Given the description of an element on the screen output the (x, y) to click on. 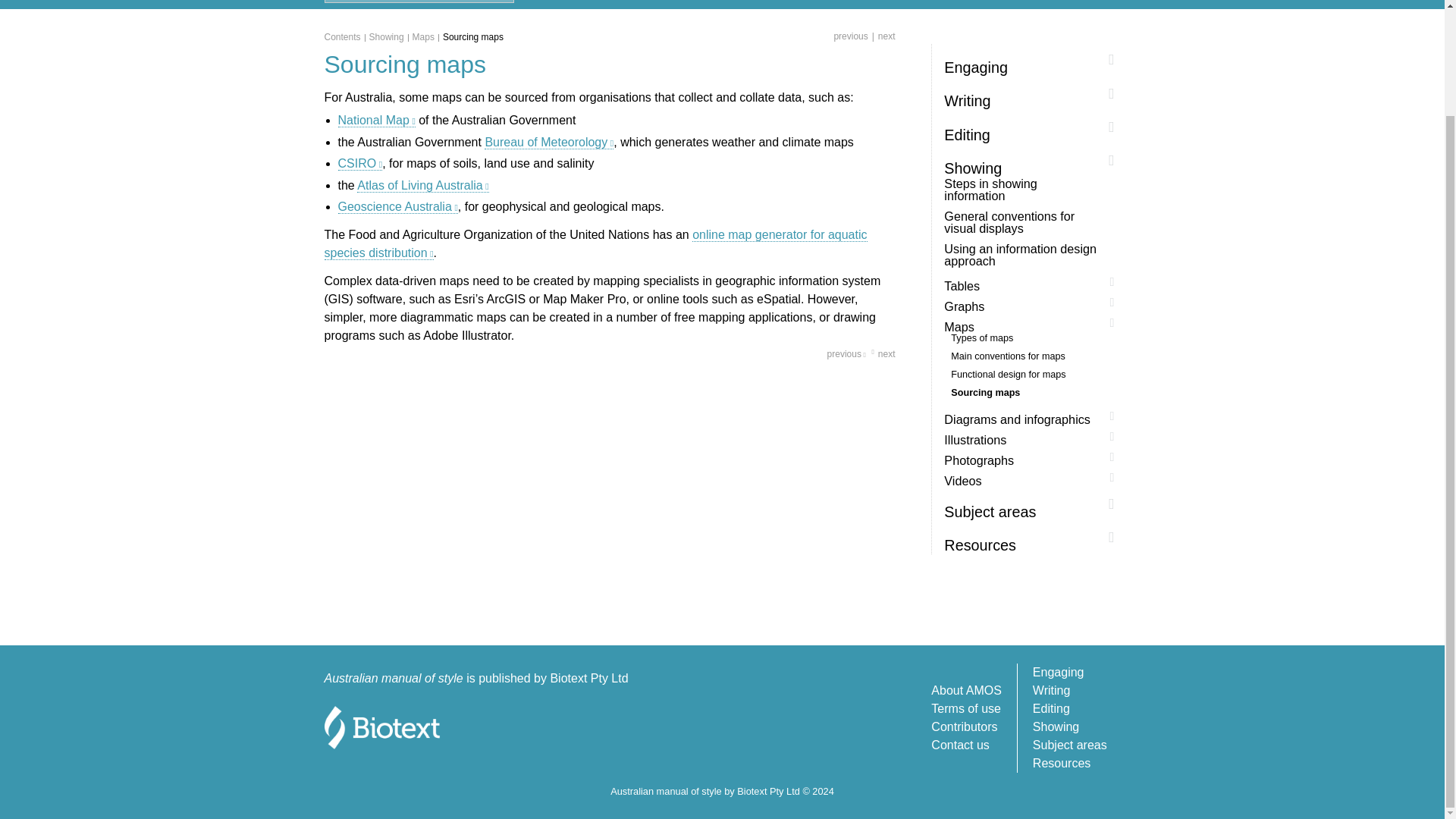
Showing (390, 36)
Bureau of Meteorology (548, 142)
next (881, 36)
Atlas of Living Australia (421, 185)
Geoscience Australia (397, 206)
online map generator for aquatic species distribution (595, 244)
Go to previous page (849, 36)
Go to previous page (846, 353)
Look inside (799, 4)
CSIRO (359, 163)
